Given the description of an element on the screen output the (x, y) to click on. 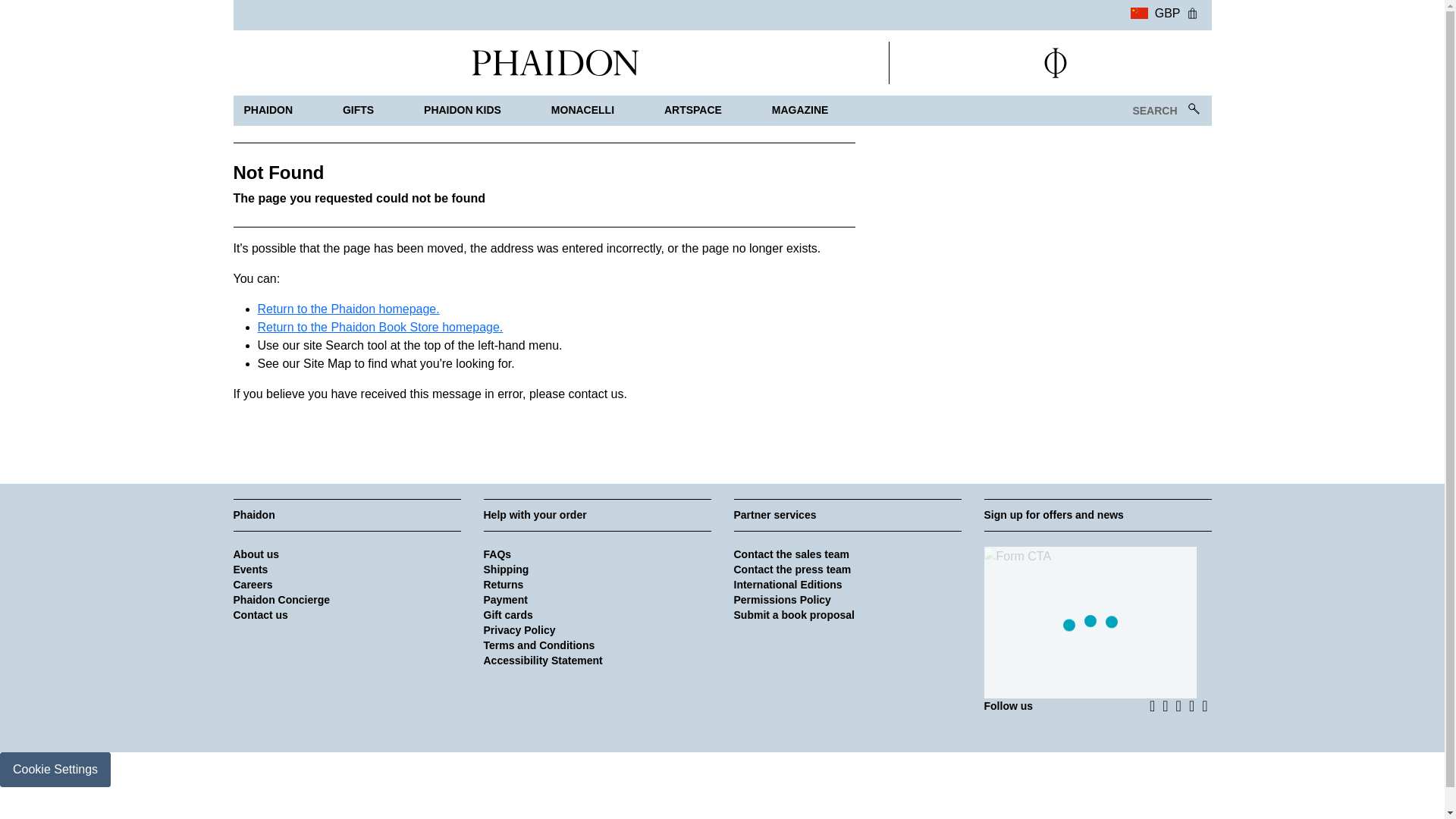
GBP (1155, 11)
PHAIDON (268, 110)
MONACELLI (582, 110)
GIFTS (358, 110)
PHAIDON KIDS (462, 110)
